Given the description of an element on the screen output the (x, y) to click on. 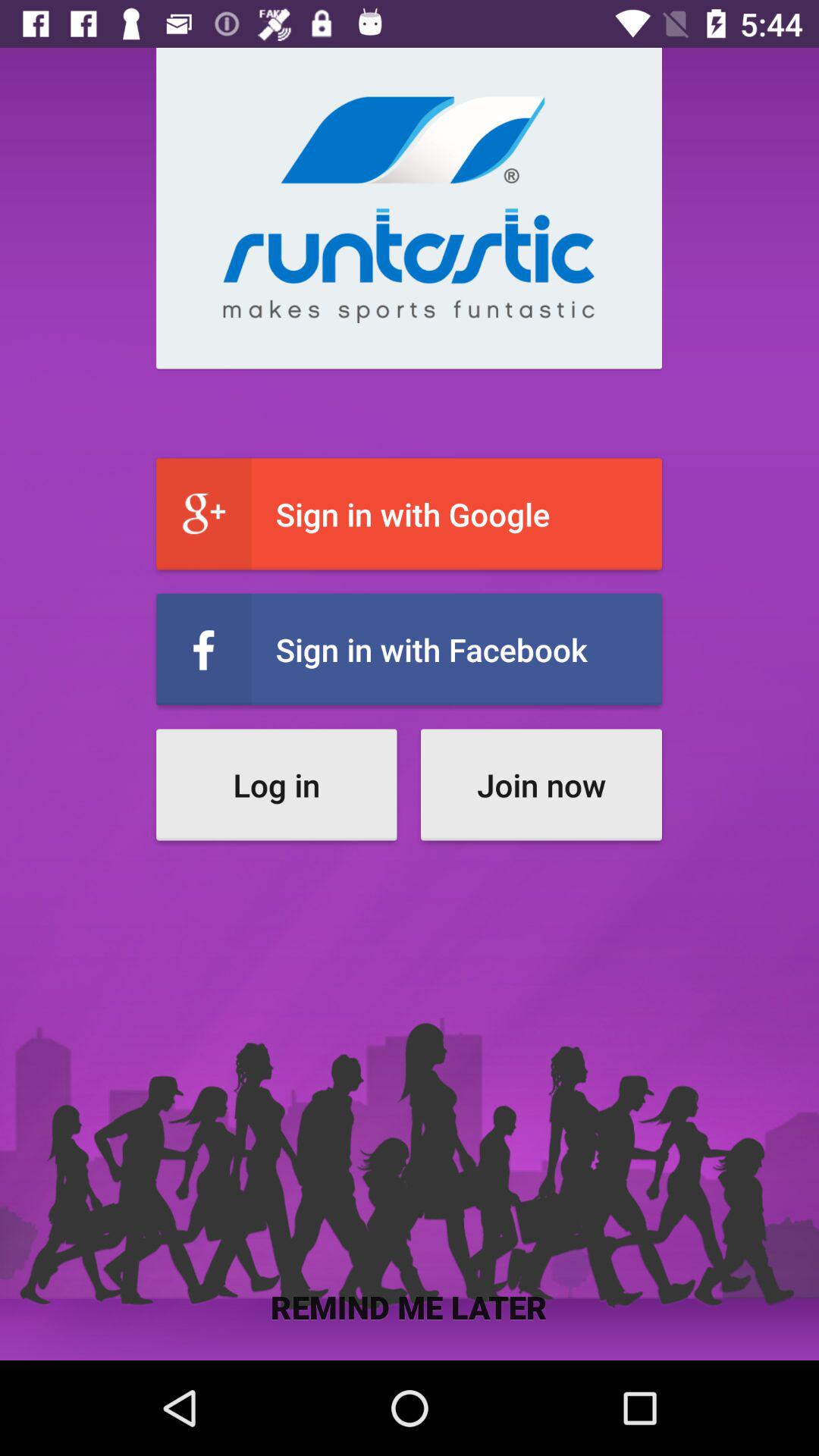
choose the log in icon (276, 784)
